Given the description of an element on the screen output the (x, y) to click on. 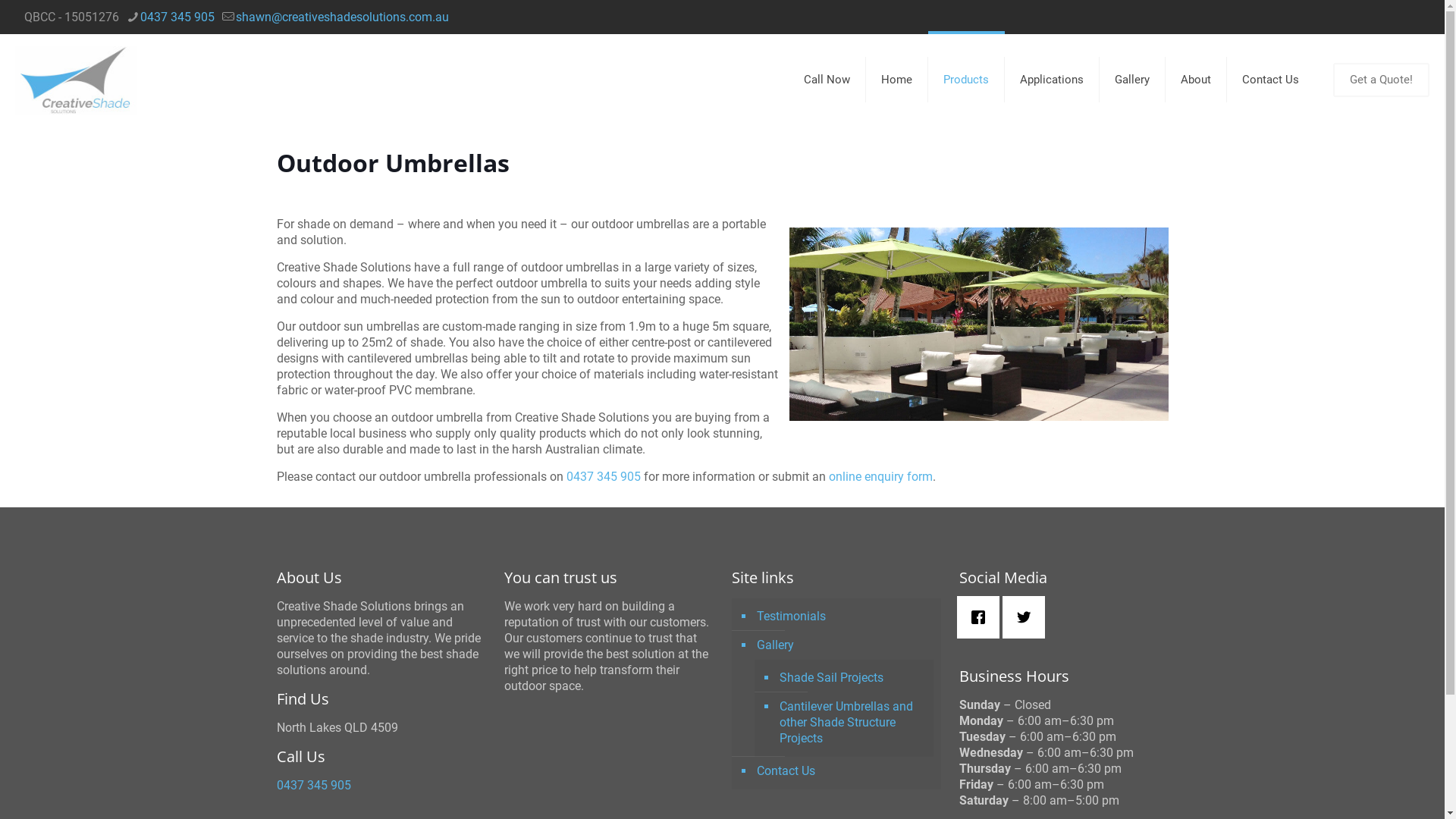
Shade Sails Brisbane - Creative Shade Solutions Element type: hover (75, 79)
0437 345 905 Element type: text (602, 476)
Cantilever Umbrellas and other Shade Structure Projects Element type: text (850, 722)
Gallery Element type: text (842, 644)
Applications Element type: text (1051, 79)
0437 345 905 Element type: text (313, 785)
About Element type: text (1195, 79)
Gallery Element type: text (1132, 79)
Shade Sail Projects Element type: text (850, 677)
Testimonials Element type: text (842, 616)
shawn@creativeshadesolutions.com.au Element type: text (341, 16)
Call Now Element type: text (827, 79)
online enquiry form Element type: text (879, 476)
Contact Us Element type: text (842, 770)
0437 345 905 Element type: text (177, 16)
Home Element type: text (897, 79)
Contact Us Element type: text (1270, 79)
Products Element type: text (966, 79)
Get a Quote! Element type: text (1381, 79)
